Given the description of an element on the screen output the (x, y) to click on. 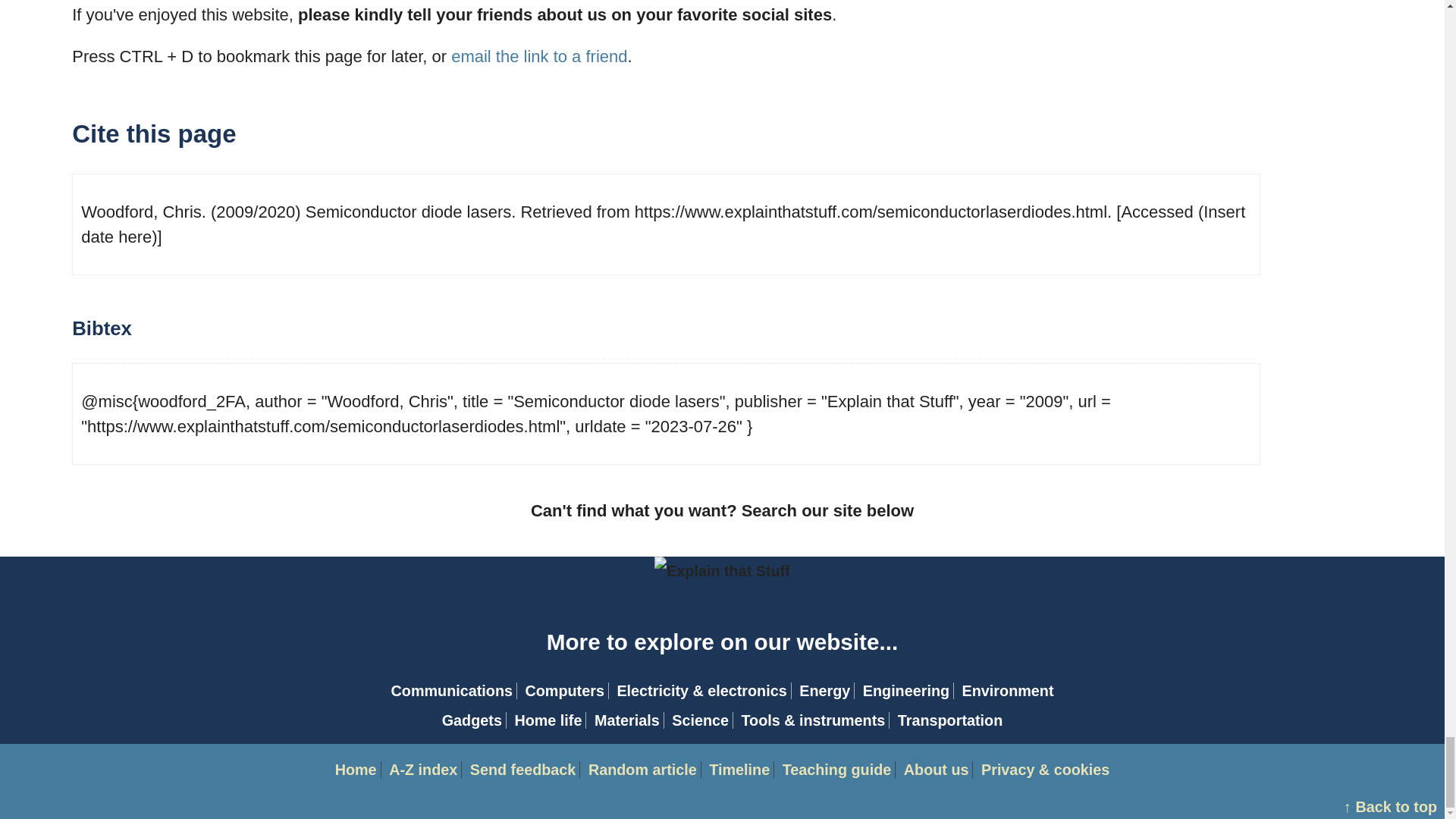
Email this page to a friend (539, 56)
